Given the description of an element on the screen output the (x, y) to click on. 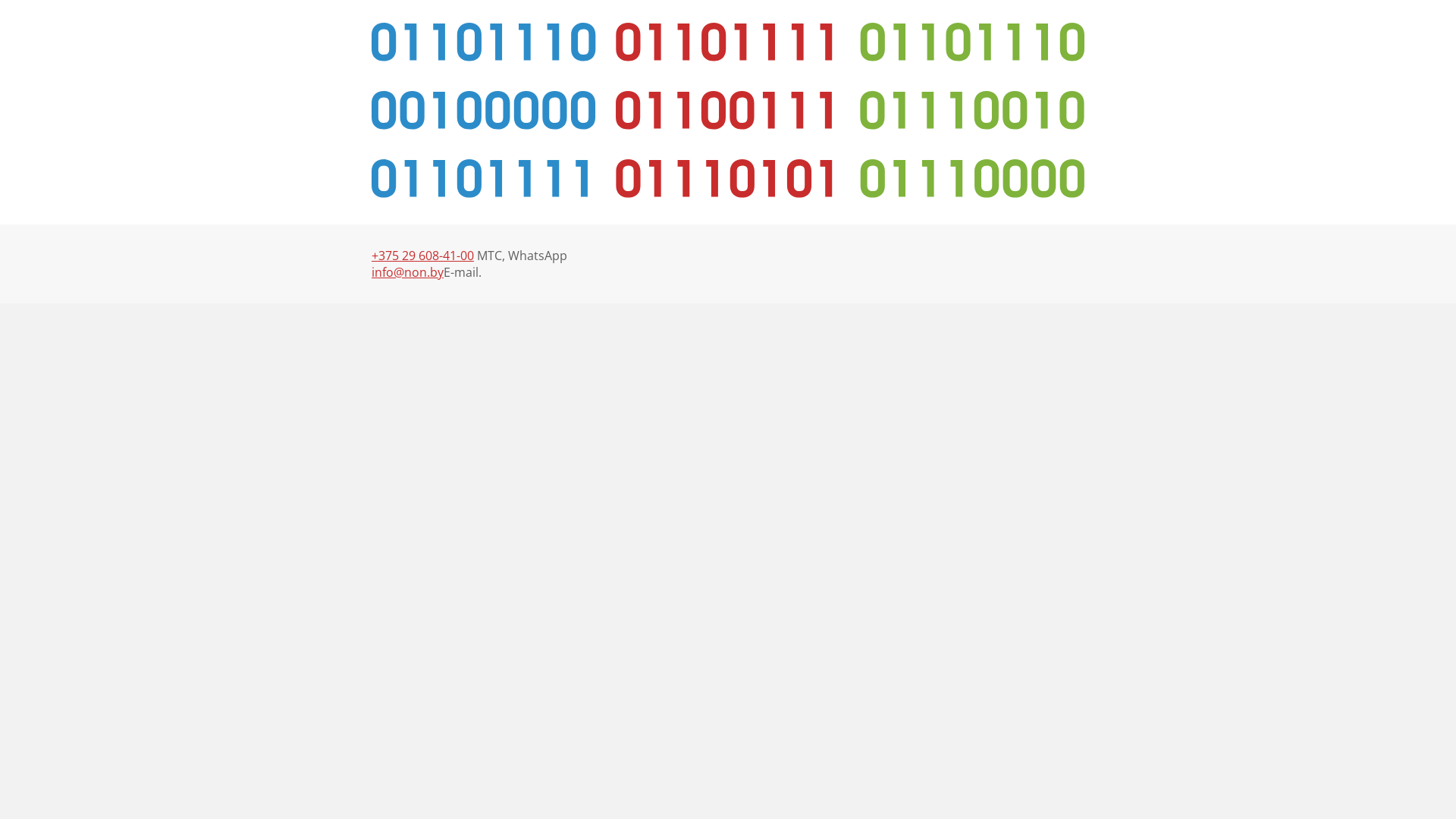
+375 29 608-41-00 Element type: text (422, 255)
info@non.by Element type: text (407, 271)
